Given the description of an element on the screen output the (x, y) to click on. 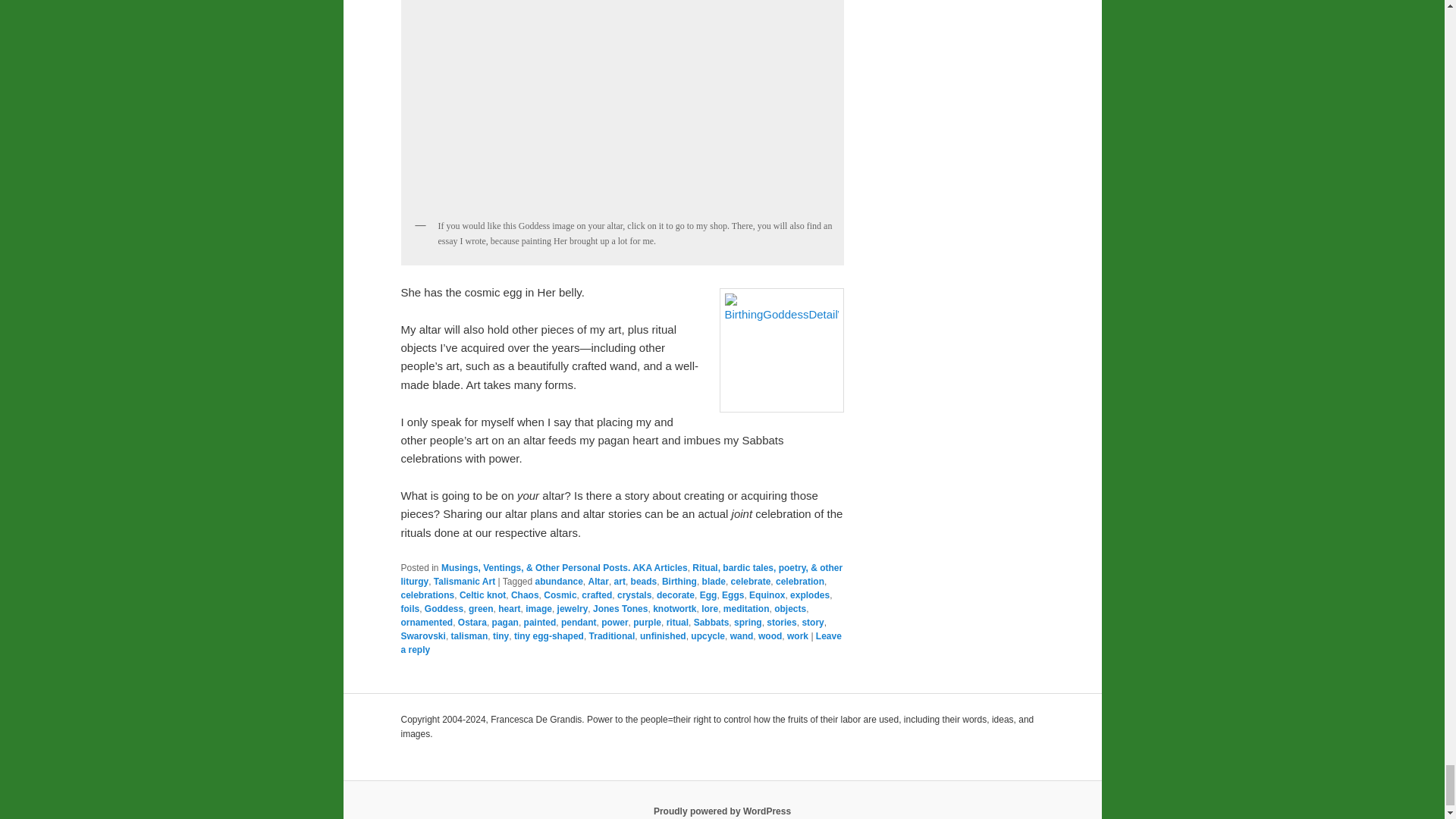
Semantic Personal Publishing Platform (721, 810)
